Given the description of an element on the screen output the (x, y) to click on. 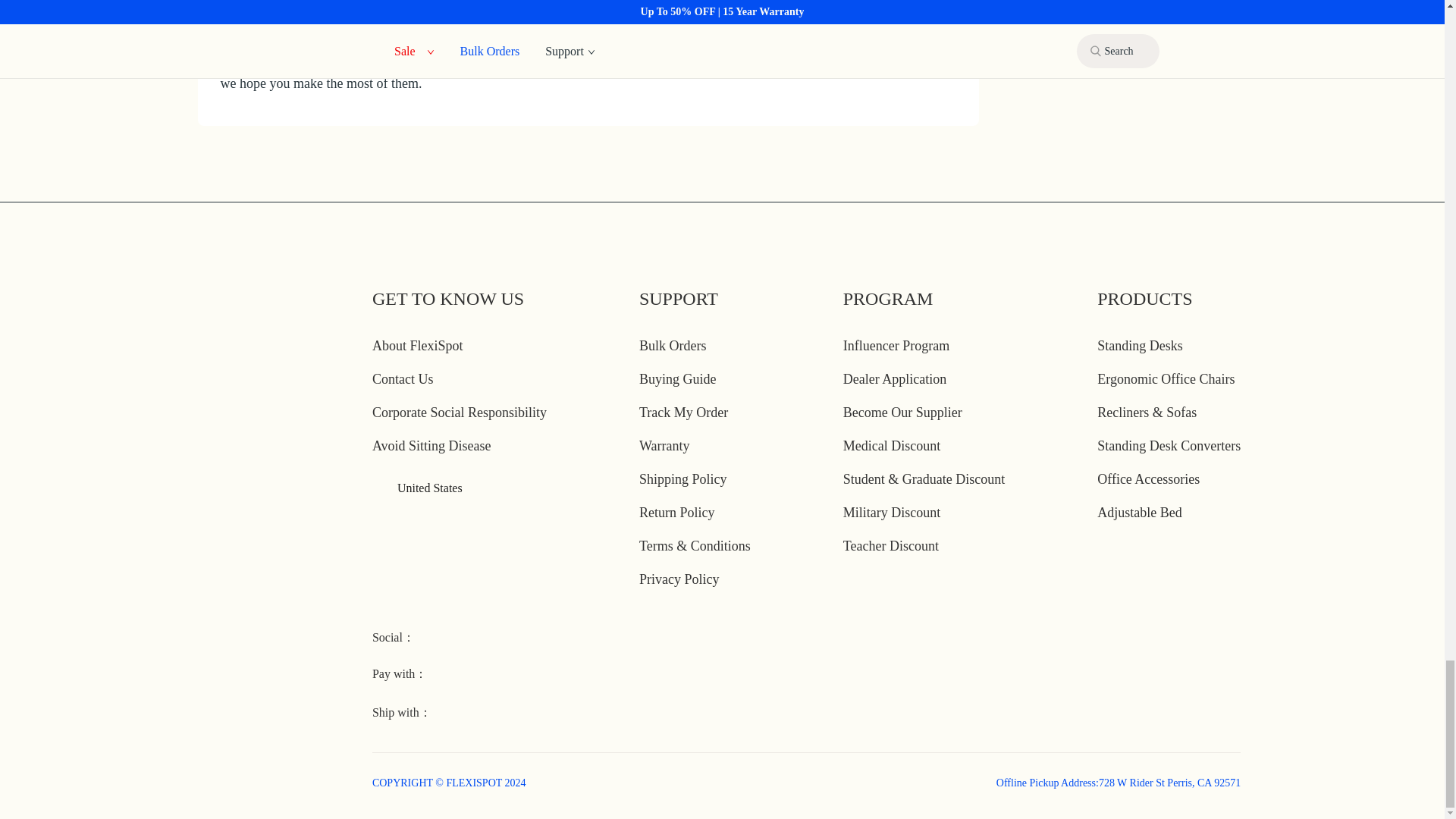
Avoid Sitting Disease (432, 445)
About FlexiSpot (417, 345)
Shipping Policy (682, 478)
Contact Us (402, 378)
Track My Order (683, 412)
Return Policy (676, 512)
Become Our Supplier (902, 412)
Bulk Orders (672, 345)
Warranty (664, 445)
Influencer Program (896, 345)
Buying Guide (677, 378)
Corporate Social Responsibility (459, 412)
Dealer Application (894, 378)
Privacy Policy (679, 579)
Medical Discount (891, 445)
